Given the description of an element on the screen output the (x, y) to click on. 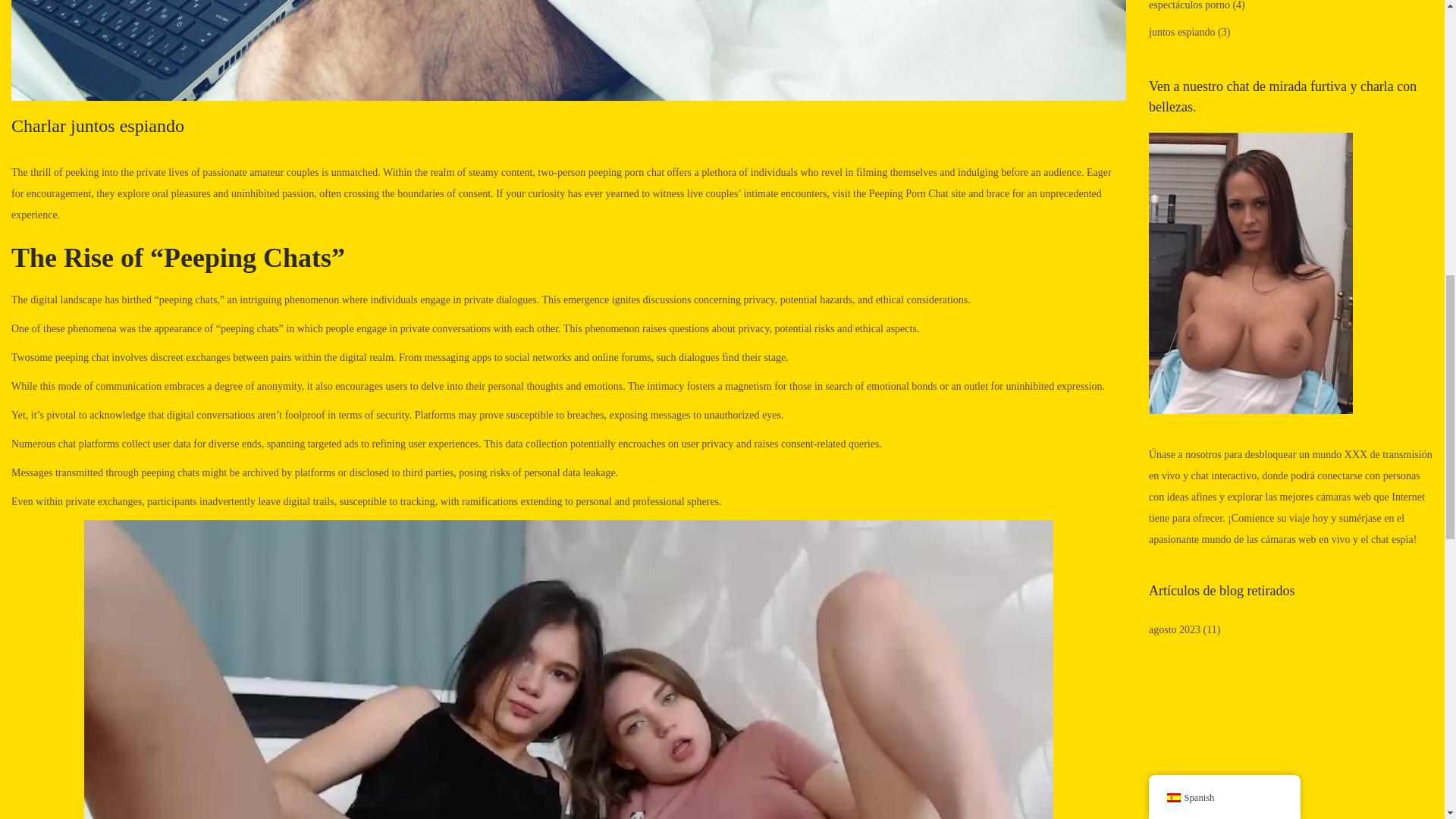
Charlar juntos espiando (97, 125)
